Given the description of an element on the screen output the (x, y) to click on. 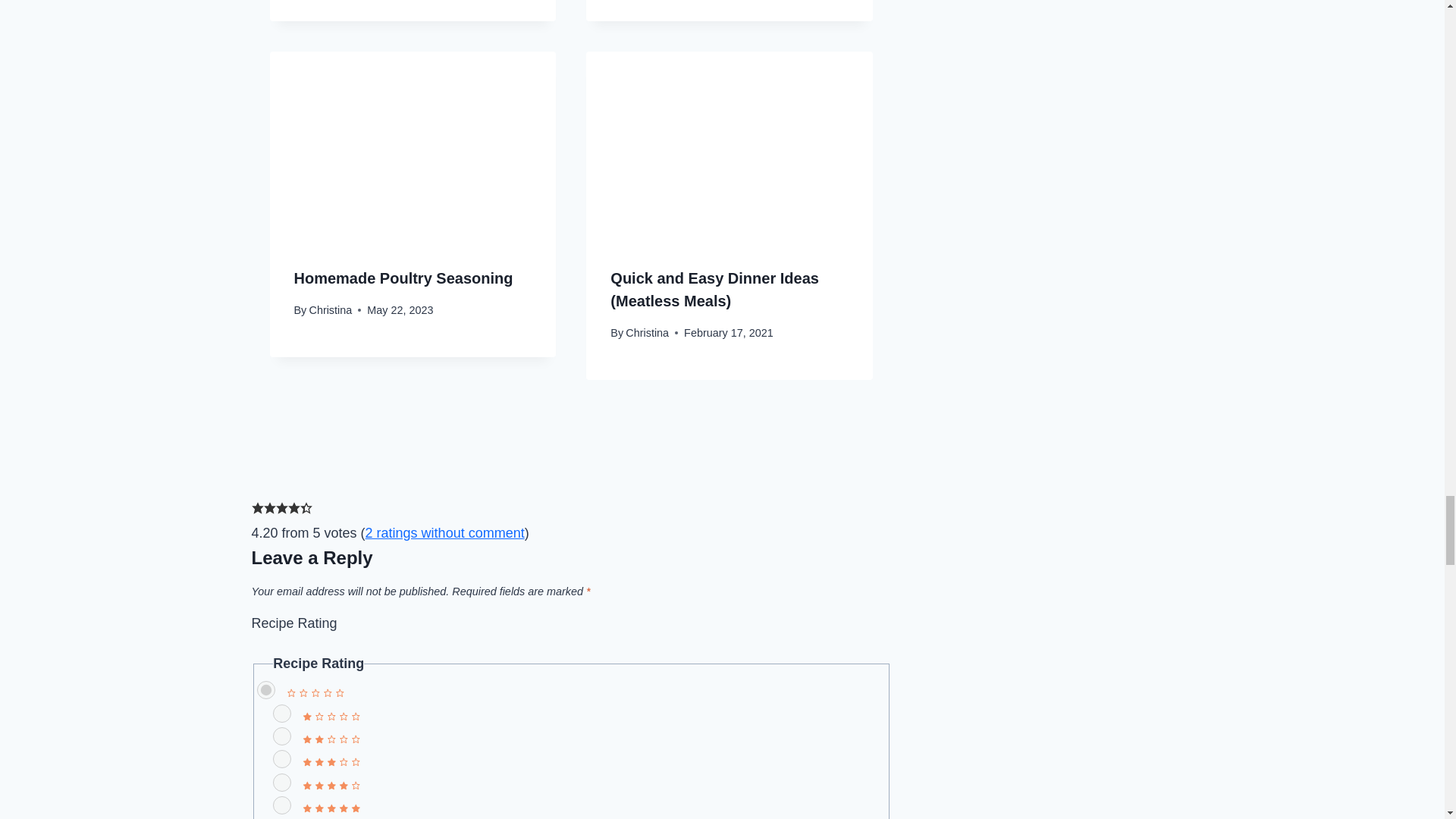
3 (282, 759)
5 (282, 805)
0 (266, 689)
4 (282, 782)
2 (282, 736)
1 (282, 713)
